Given the description of an element on the screen output the (x, y) to click on. 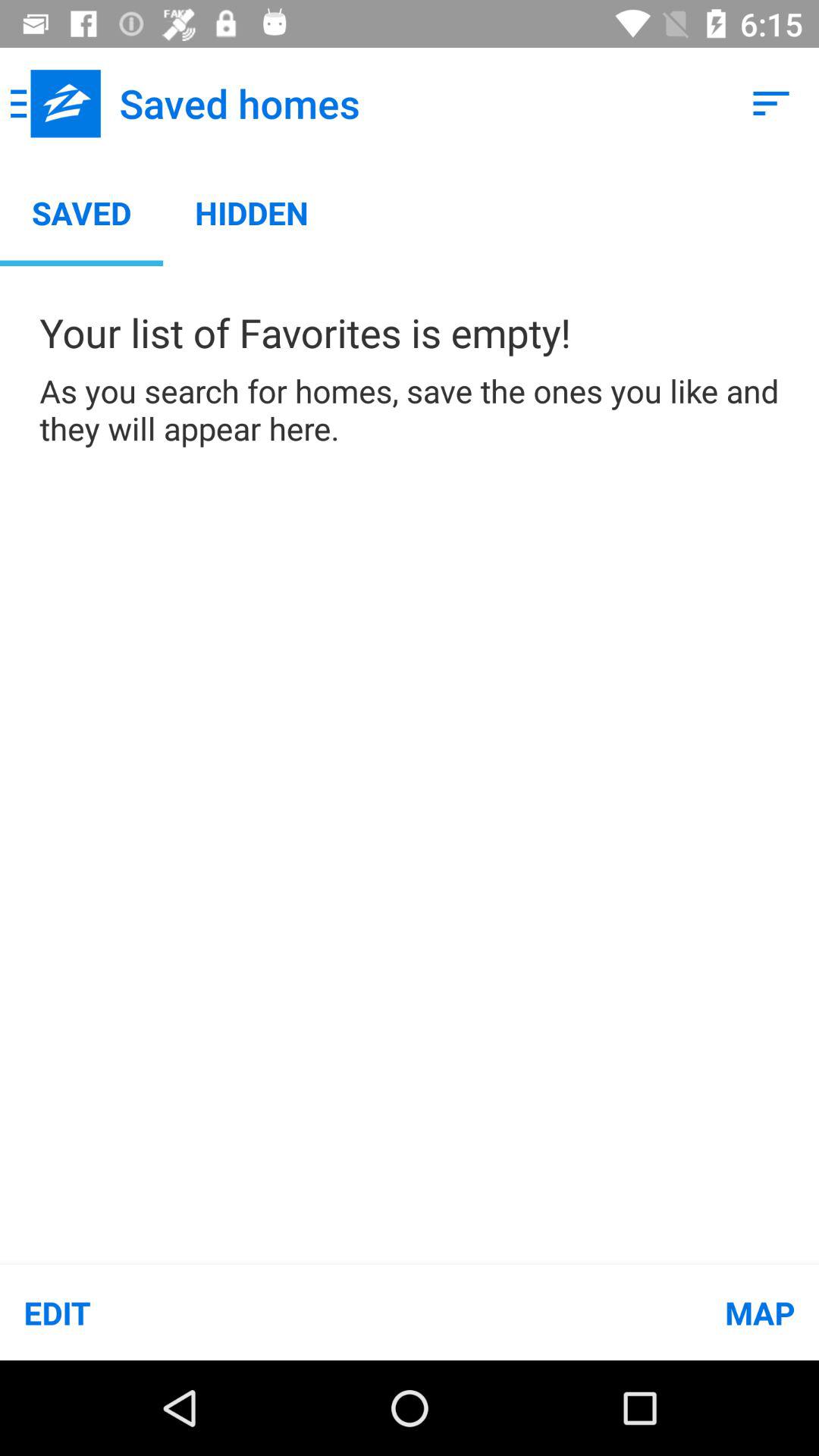
swipe to the hidden item (251, 212)
